Given the description of an element on the screen output the (x, y) to click on. 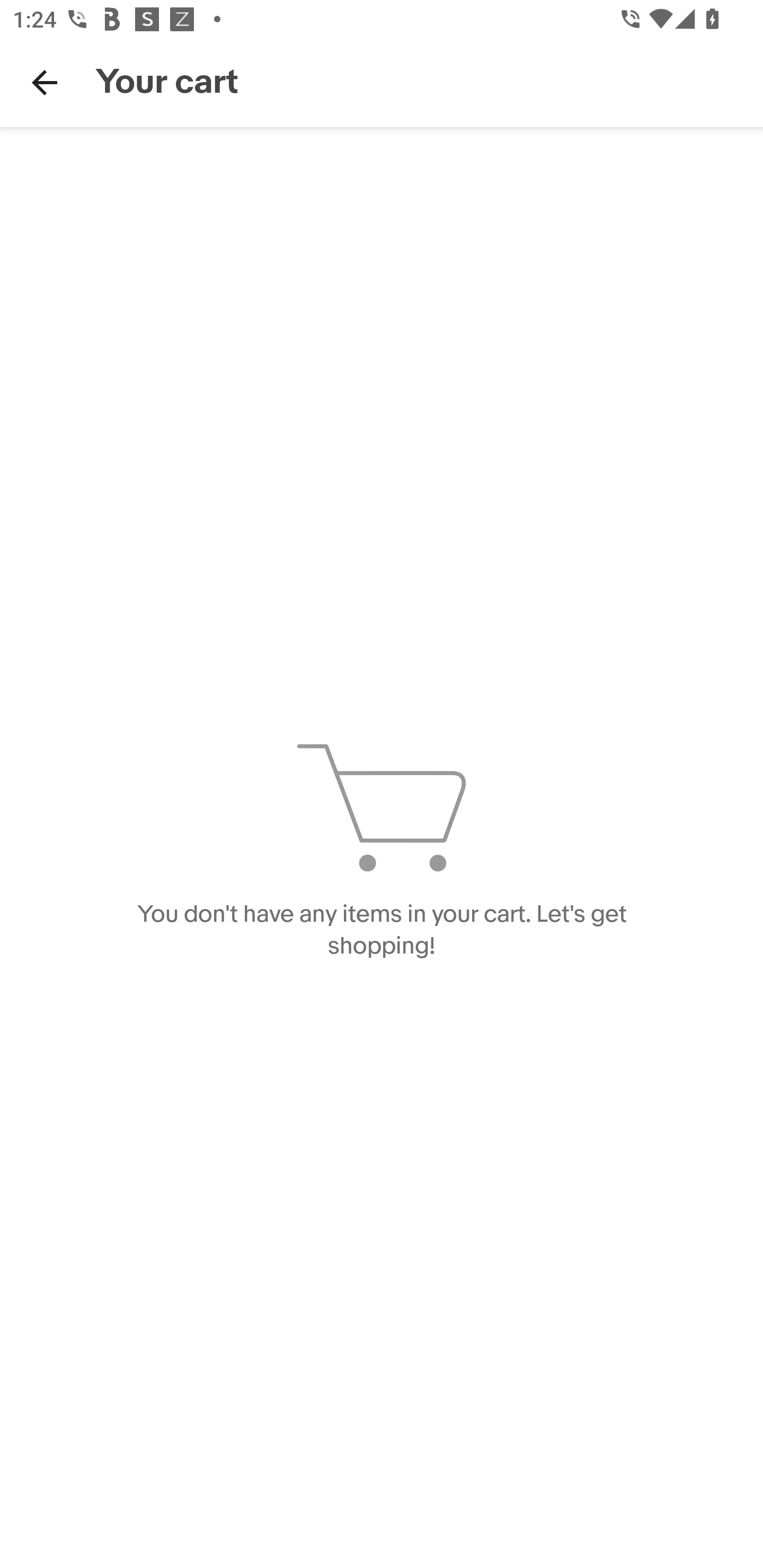
Navigate up (44, 82)
